Given the description of an element on the screen output the (x, y) to click on. 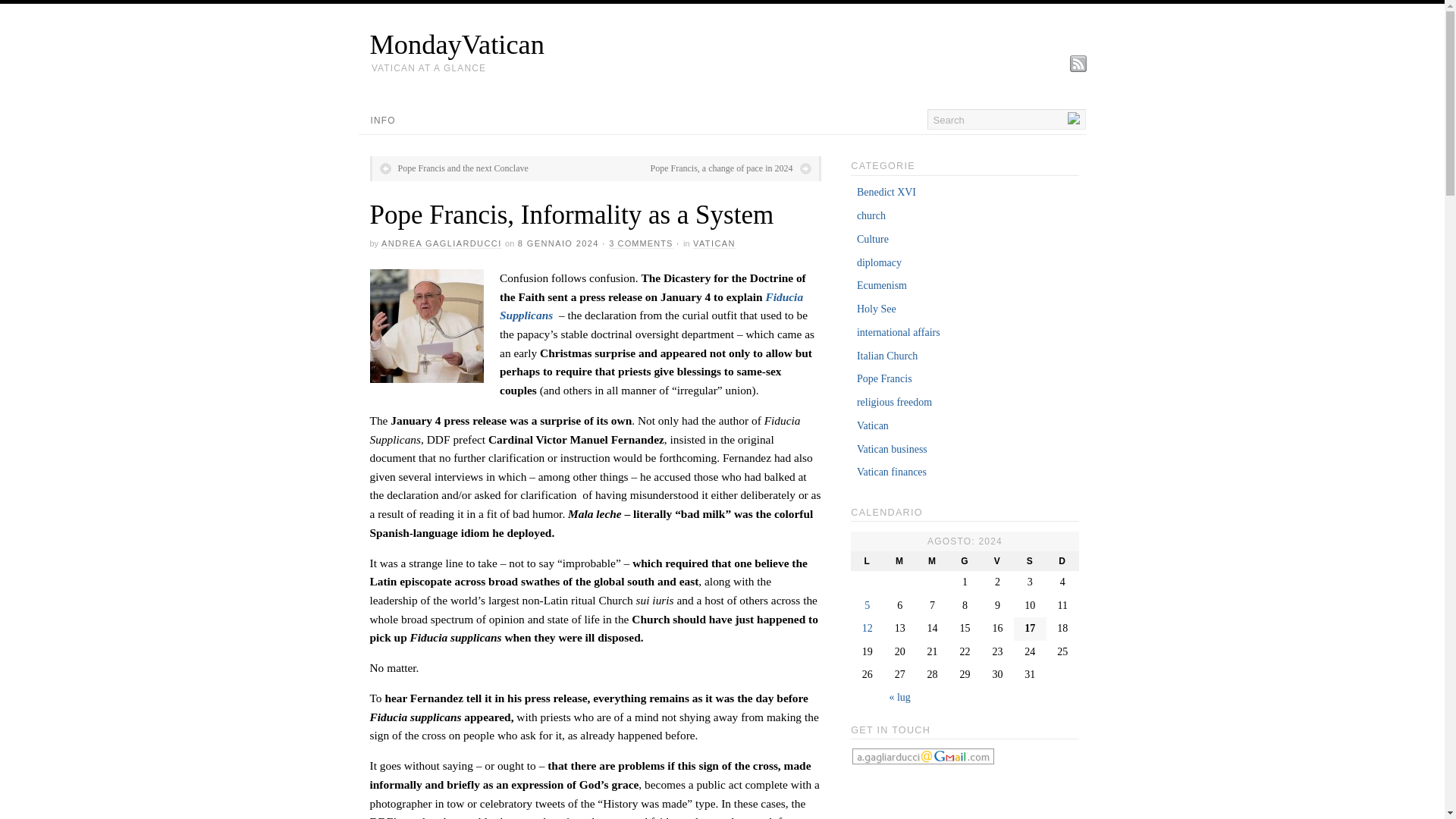
Holy See (876, 308)
3 COMMENTS (640, 243)
Visualizza tutti gli articoli archiviati in diplomacy (879, 262)
Vatican business (892, 449)
Visualizza tutti gli articoli in Vatican (714, 243)
Pope Francis (884, 378)
pope-francis-jpeg (426, 326)
Vatican (872, 425)
Pope Francis and the next Conclave (452, 167)
MondayVatican (727, 44)
